Given the description of an element on the screen output the (x, y) to click on. 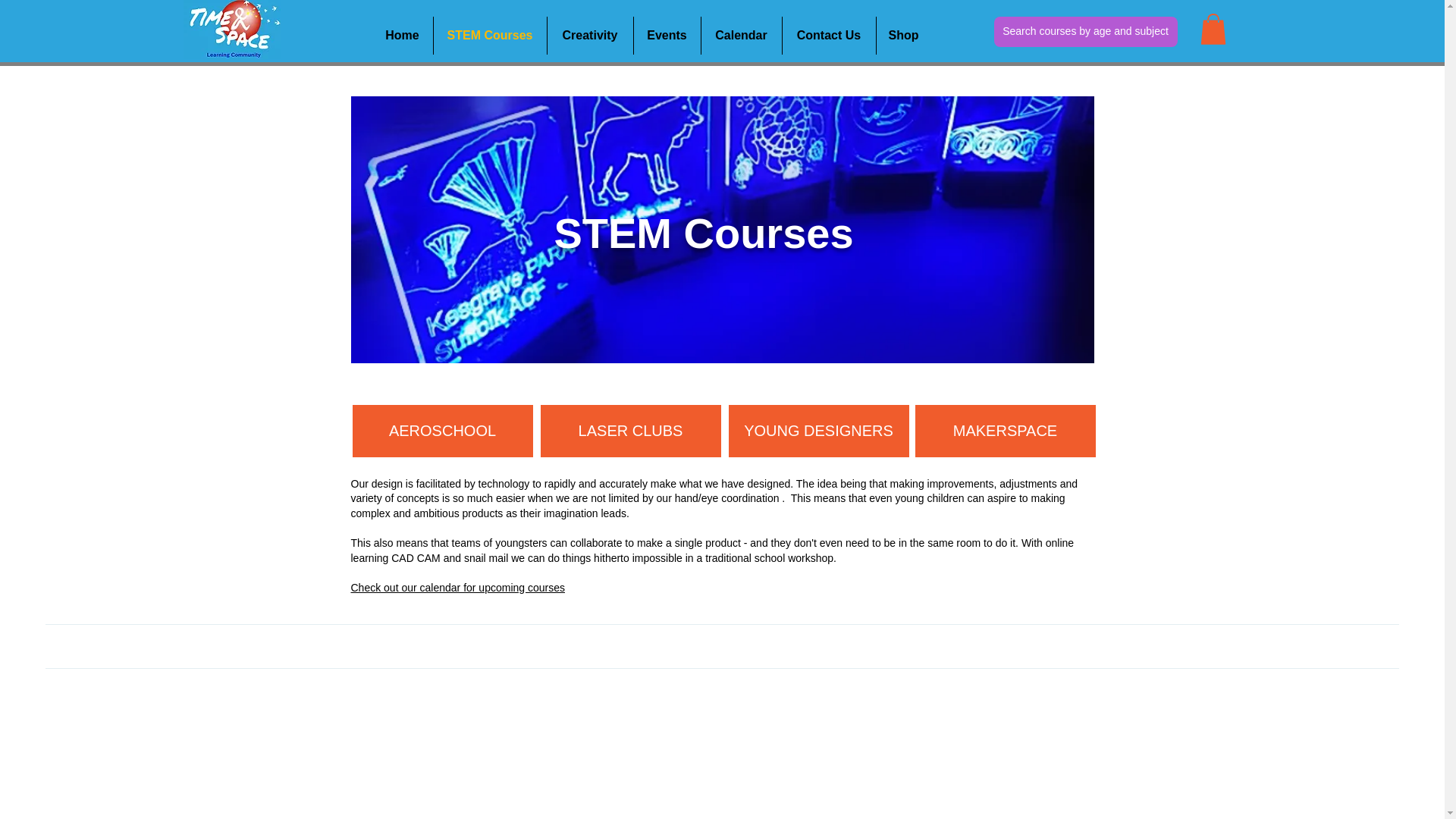
Creativity (590, 35)
YOUNG DESIGNERS (818, 430)
STEM Courses (490, 35)
Calendar (740, 35)
Events (666, 35)
MAKERSPACE (1004, 430)
LASER CLUBS (630, 430)
Search courses by age and subject (1084, 31)
Search courses by age and subject (1093, 36)
AEROSCHOOL (442, 430)
Home (401, 35)
Shop (903, 35)
Check out our calendar for upcoming courses (457, 587)
Contact Us (829, 35)
